Given the description of an element on the screen output the (x, y) to click on. 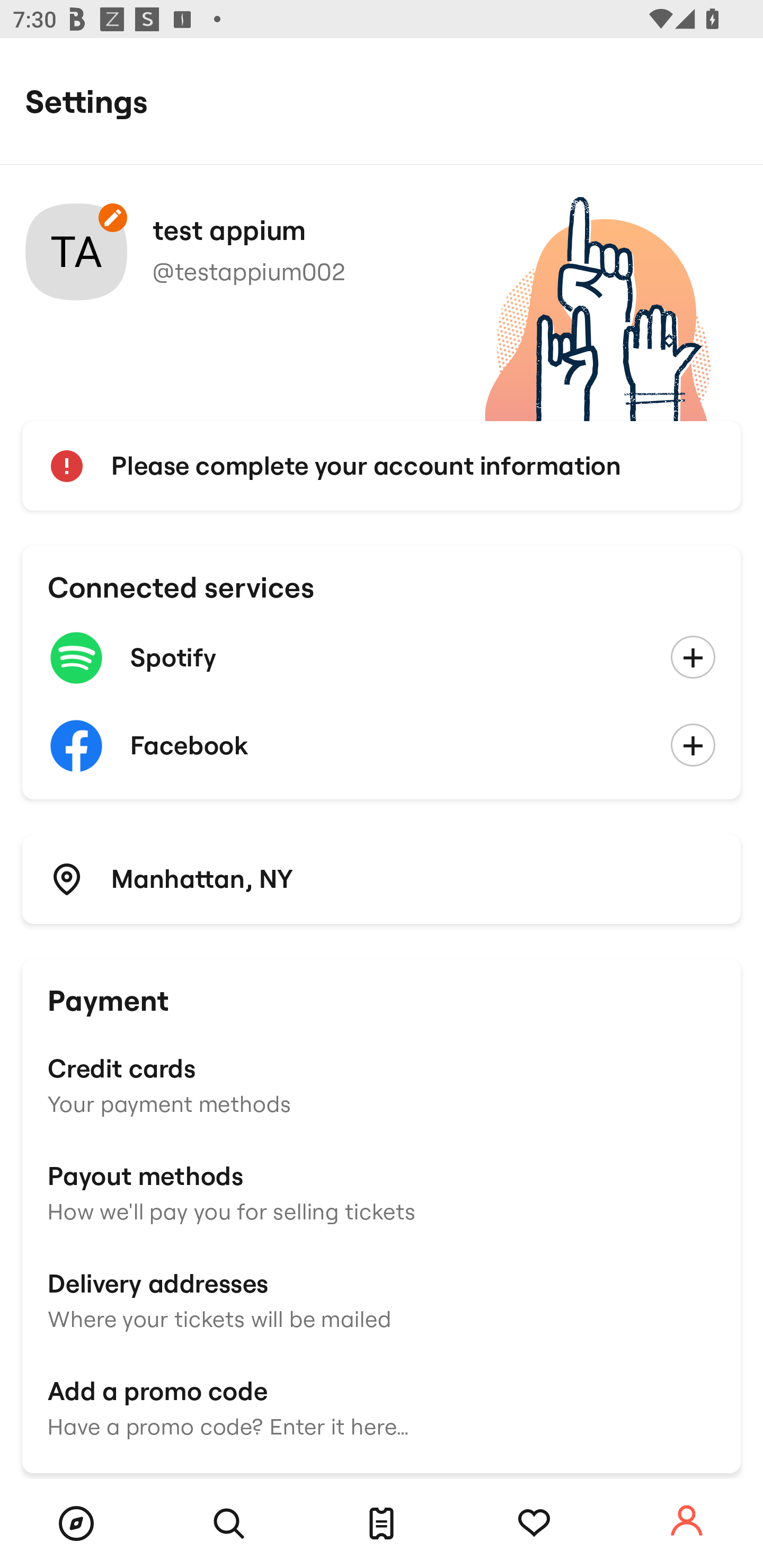
Your account photo (76, 252)
Please complete your account information (381, 466)
Spotify (381, 658)
Facebook (381, 746)
Manhattan, NY (381, 878)
Credit cards Your payment methods (381, 1084)
Add a promo code Have a promo code? Enter it here… (381, 1406)
Browse (76, 1523)
Search (228, 1523)
Tickets (381, 1523)
Tracking (533, 1523)
Account (686, 1521)
